Given the description of an element on the screen output the (x, y) to click on. 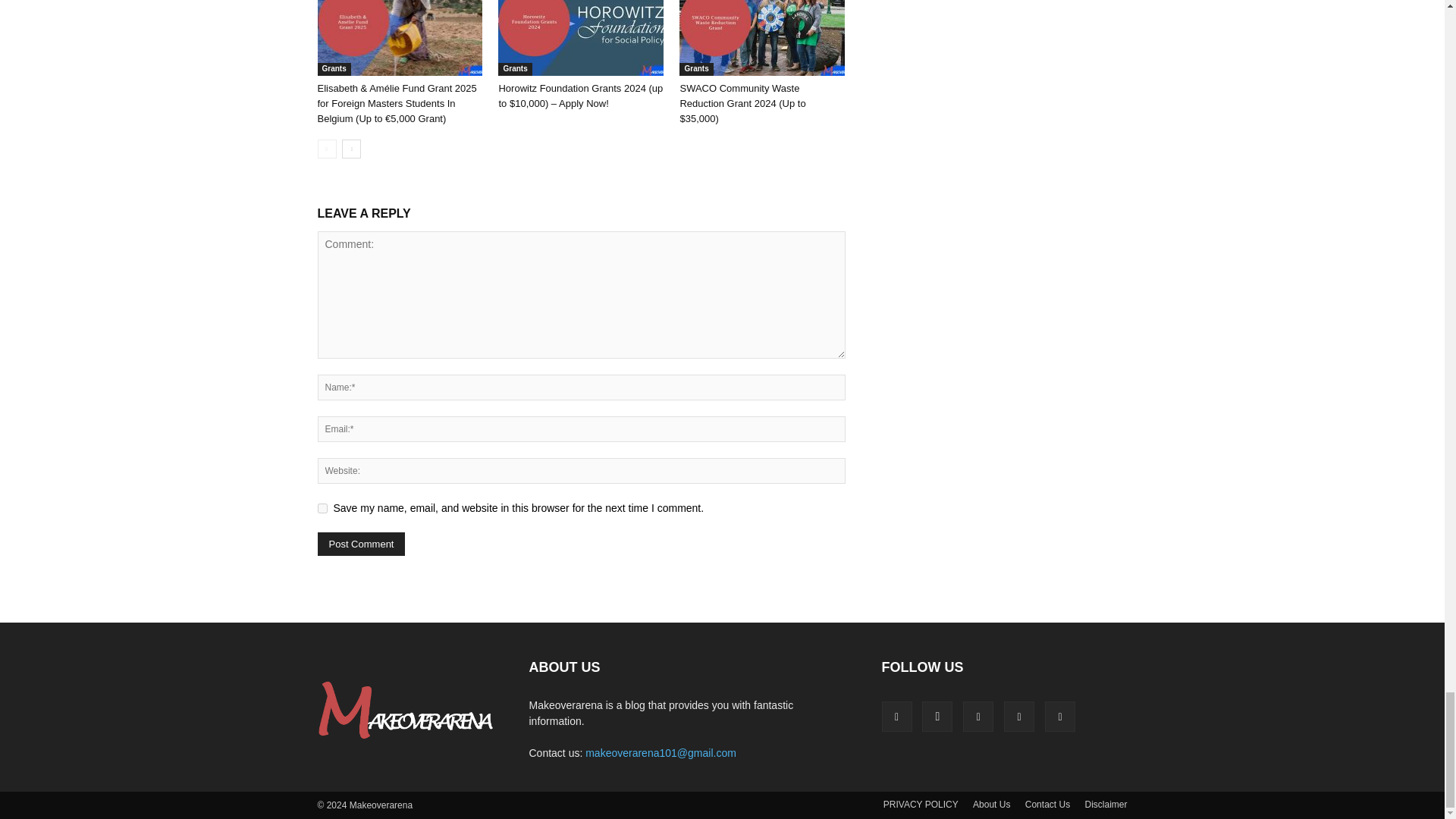
yes (321, 508)
Post Comment (360, 544)
